Given the description of an element on the screen output the (x, y) to click on. 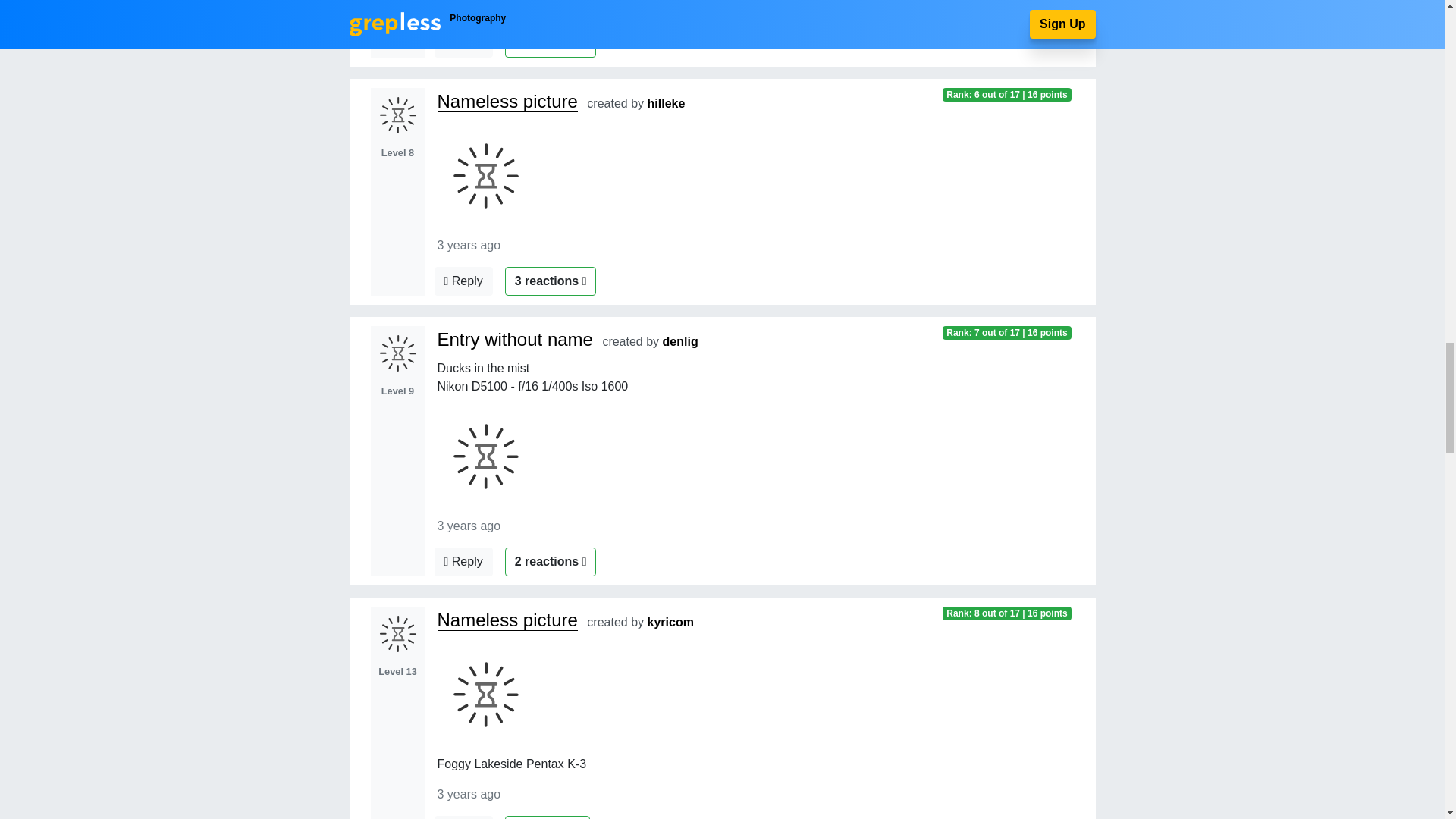
Answers to this response (462, 561)
Answers to this response (462, 817)
Answers to this response (462, 42)
Answers to this response (462, 280)
